Given the description of an element on the screen output the (x, y) to click on. 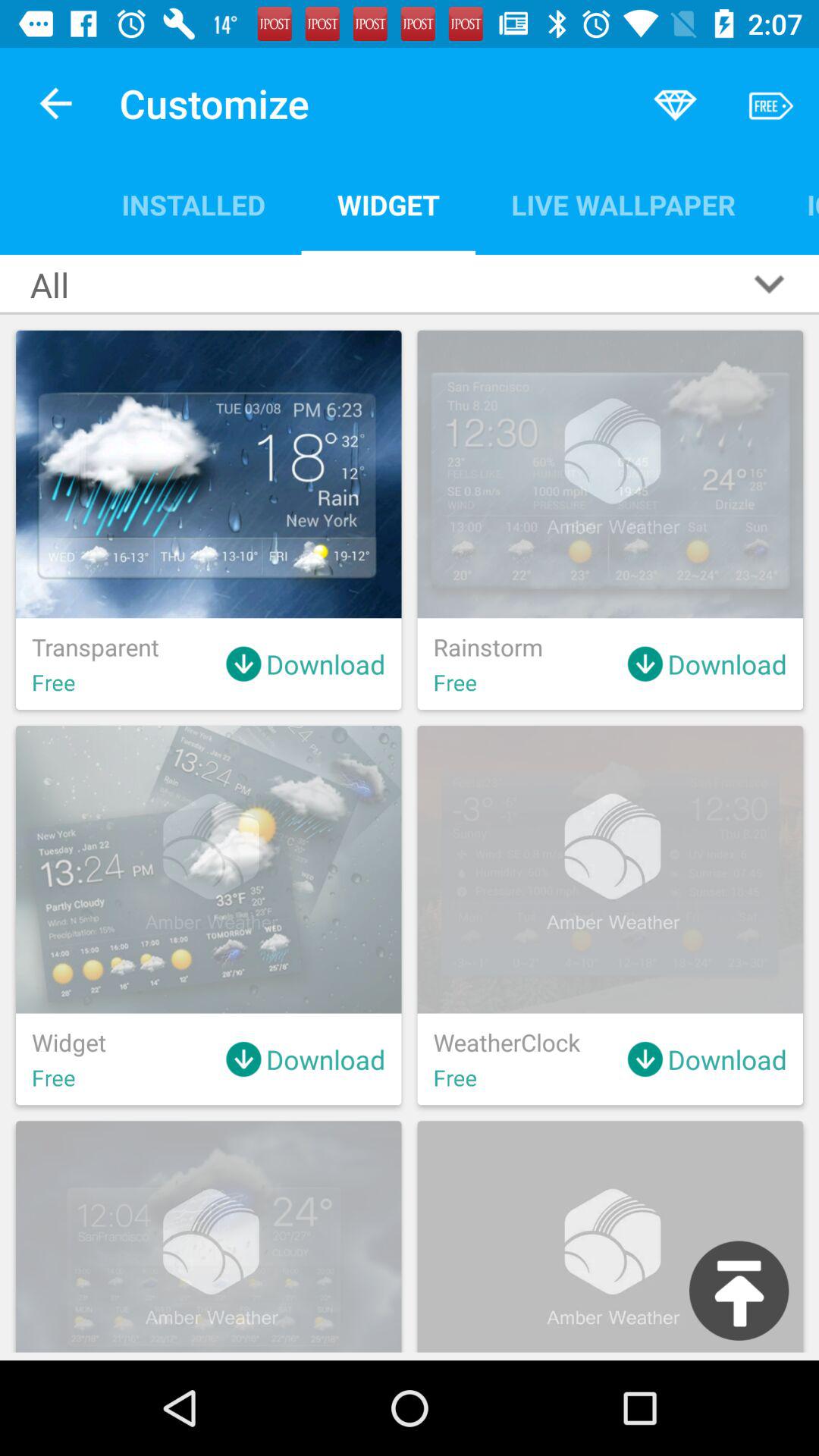
press the icon to the right of the widget icon (623, 204)
